Given the description of an element on the screen output the (x, y) to click on. 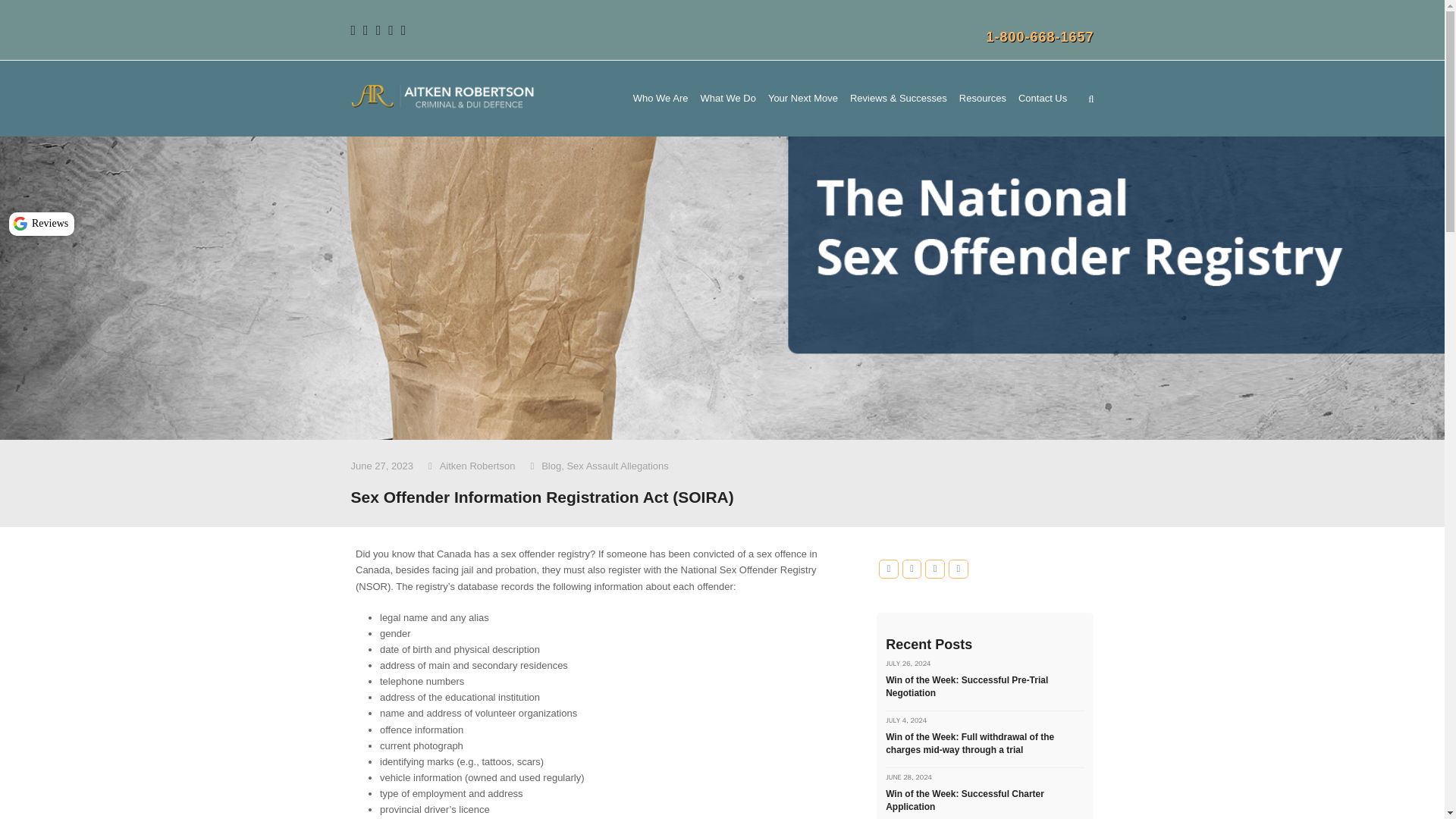
1-800-668-1657 (1039, 37)
What We Do (727, 98)
Criminal Law (727, 98)
Who We Are (660, 98)
